Given the description of an element on the screen output the (x, y) to click on. 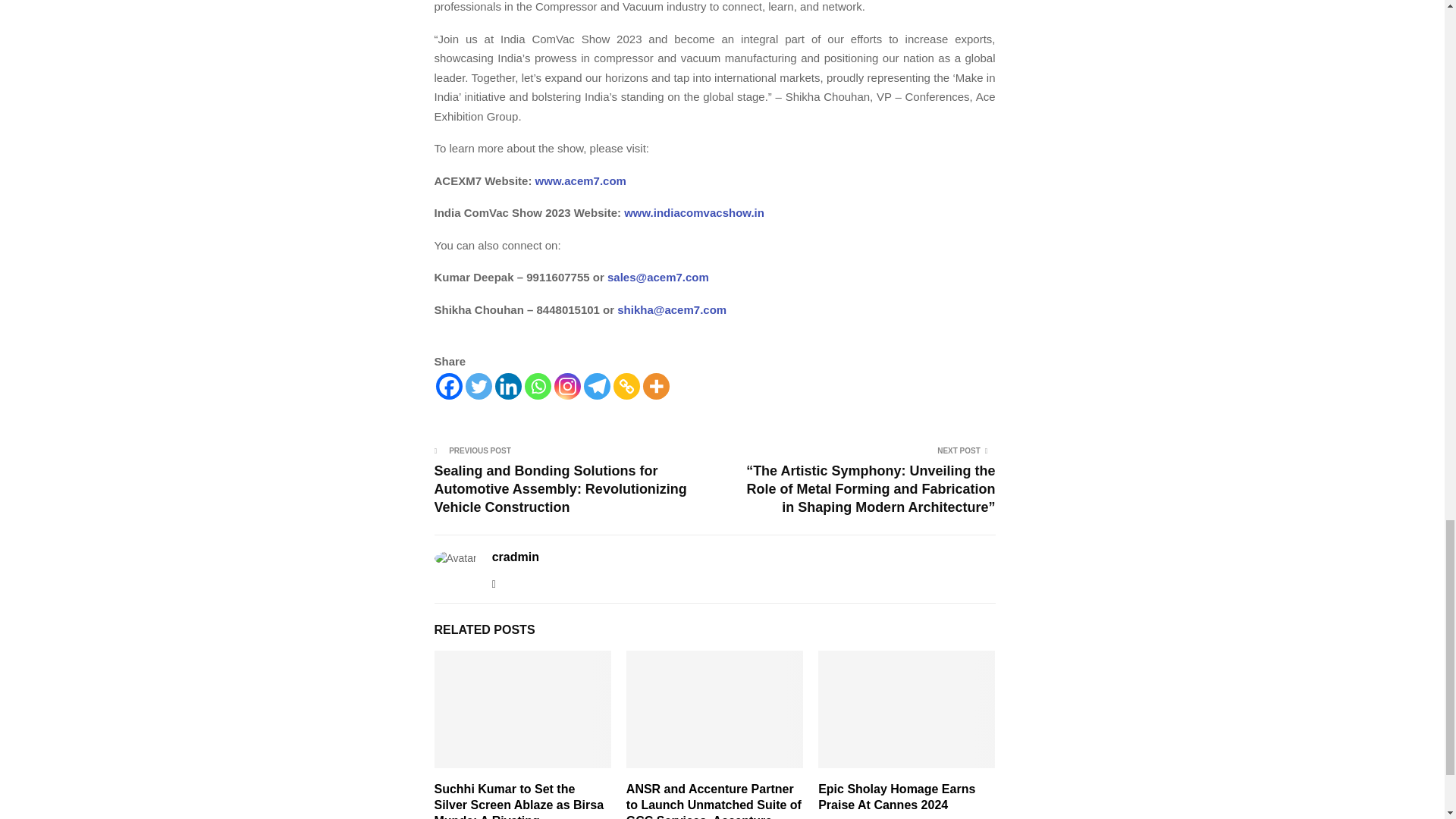
Linkedin (508, 386)
www.acem7.com (578, 180)
Facebook (448, 386)
www.indiacomvacshow.in (692, 212)
Twitter (478, 386)
